Given the description of an element on the screen output the (x, y) to click on. 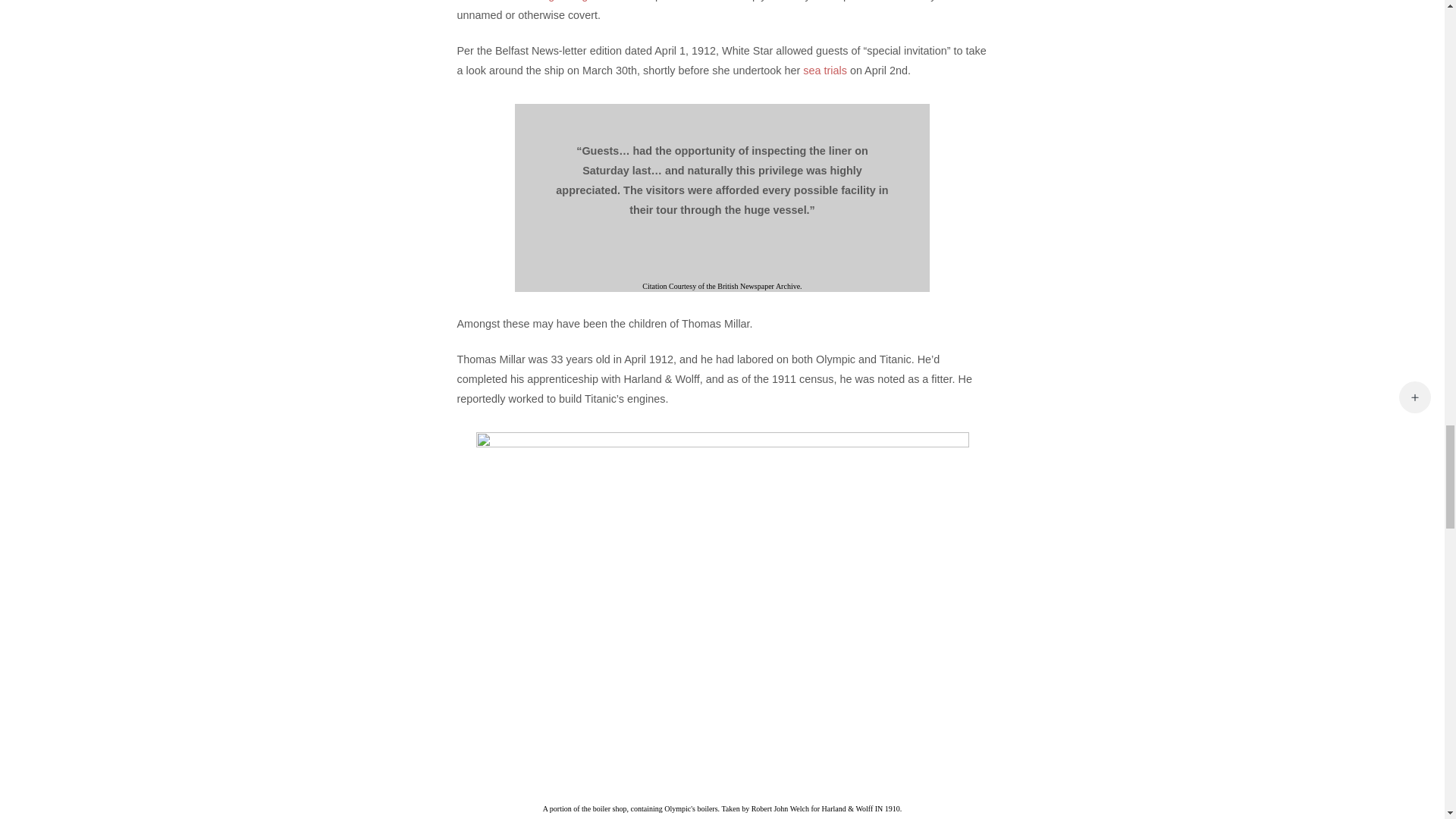
First-Class Smoking Lounge (525, 0)
sea trials (825, 70)
